Given the description of an element on the screen output the (x, y) to click on. 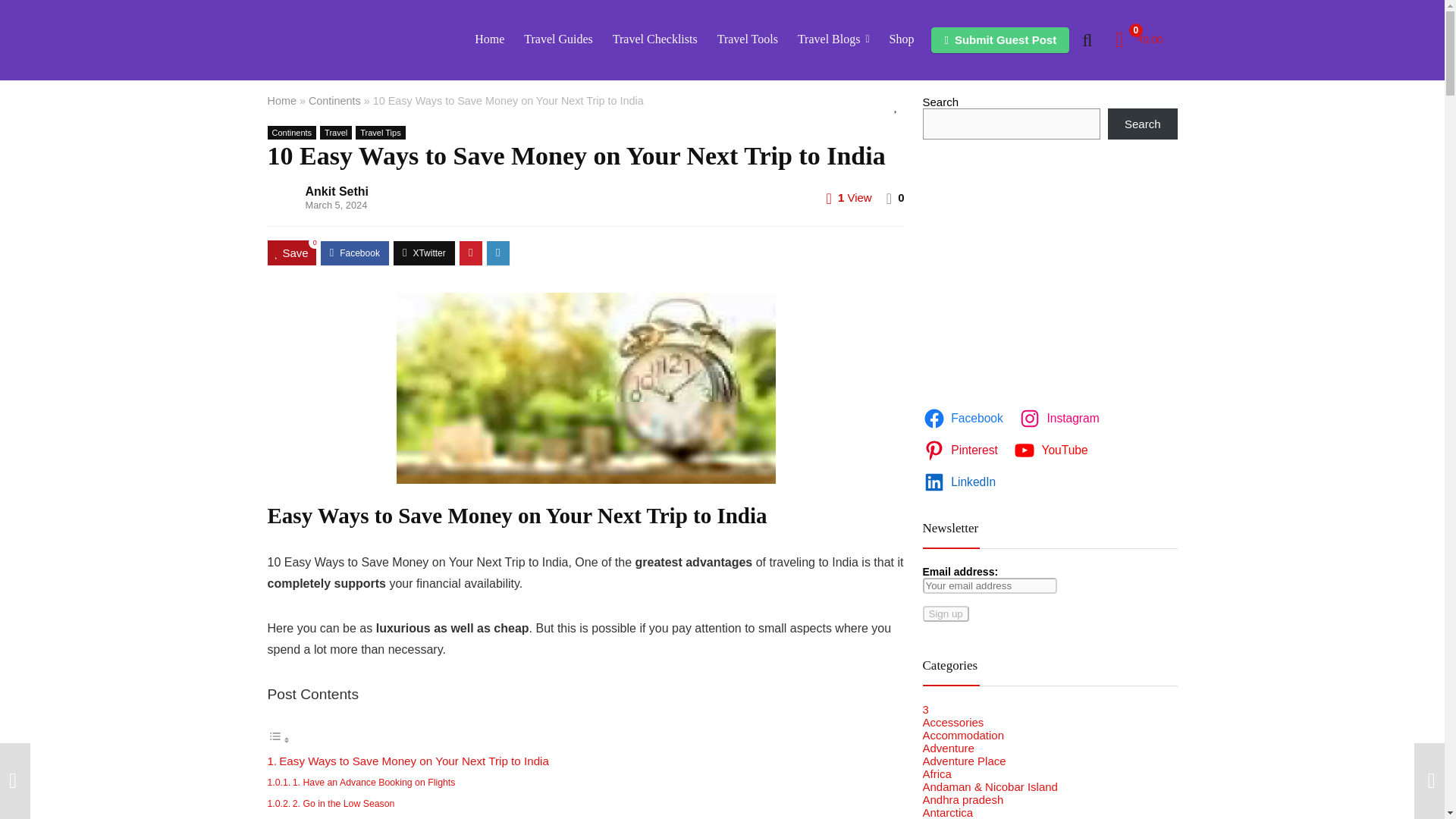
Travel Tools (747, 39)
Travel Blogs (833, 39)
Sign up (944, 613)
View all posts in Travel Tips (379, 132)
View all posts in Travel (336, 132)
View all posts in Continents (290, 132)
Travel Guides (557, 39)
Travel Checklists (654, 39)
Home (488, 39)
Easy Ways to Save Money on Your Next Trip to India (413, 760)
2. Go in the Low Season (343, 803)
1. Have an Advance Booking on Flights (373, 782)
